Given the description of an element on the screen output the (x, y) to click on. 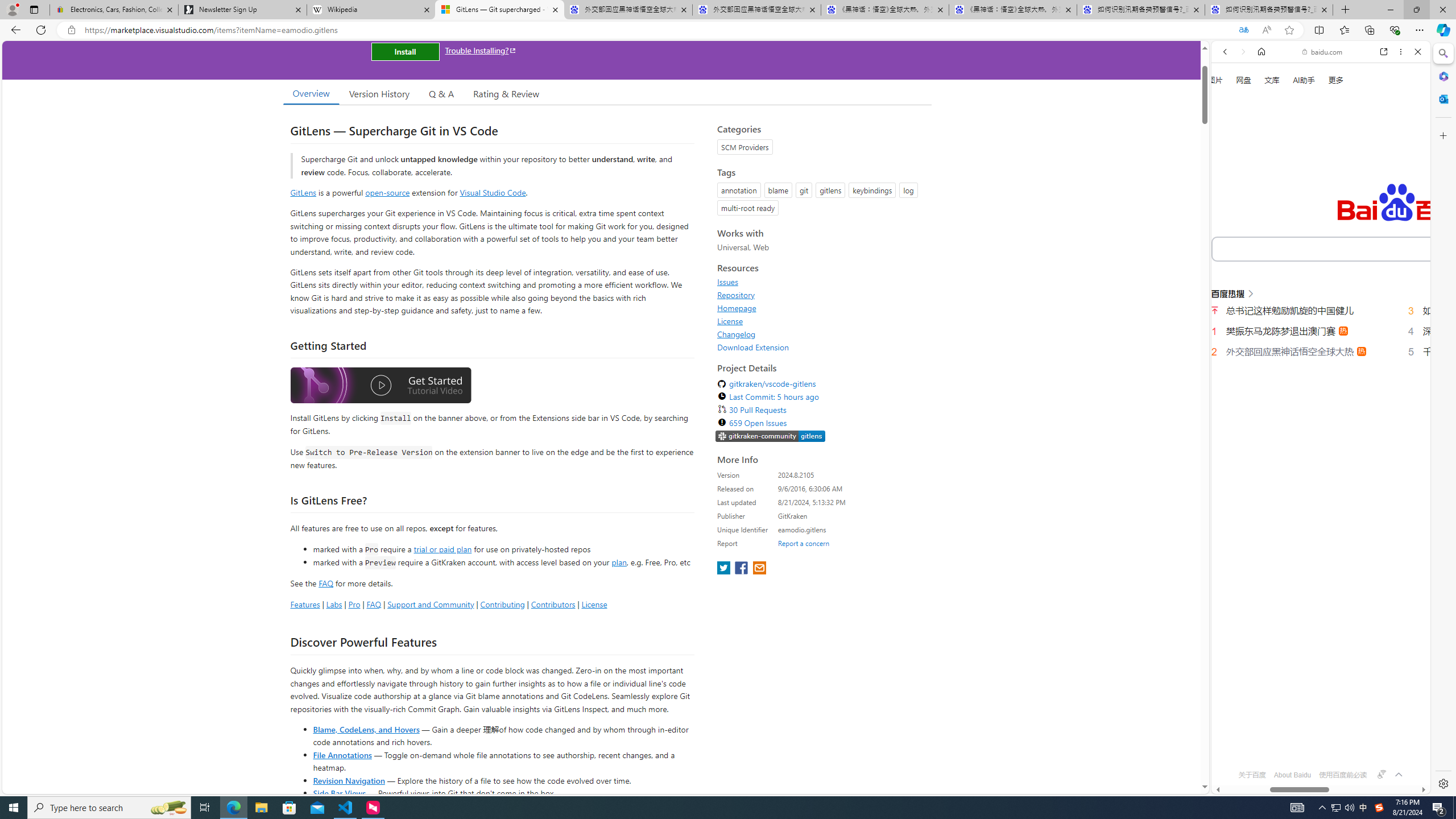
Outlook (1442, 98)
License (729, 320)
IMAGES (1262, 192)
Support and Community (430, 603)
Translated (1243, 29)
Homepage (737, 307)
